Given the description of an element on the screen output the (x, y) to click on. 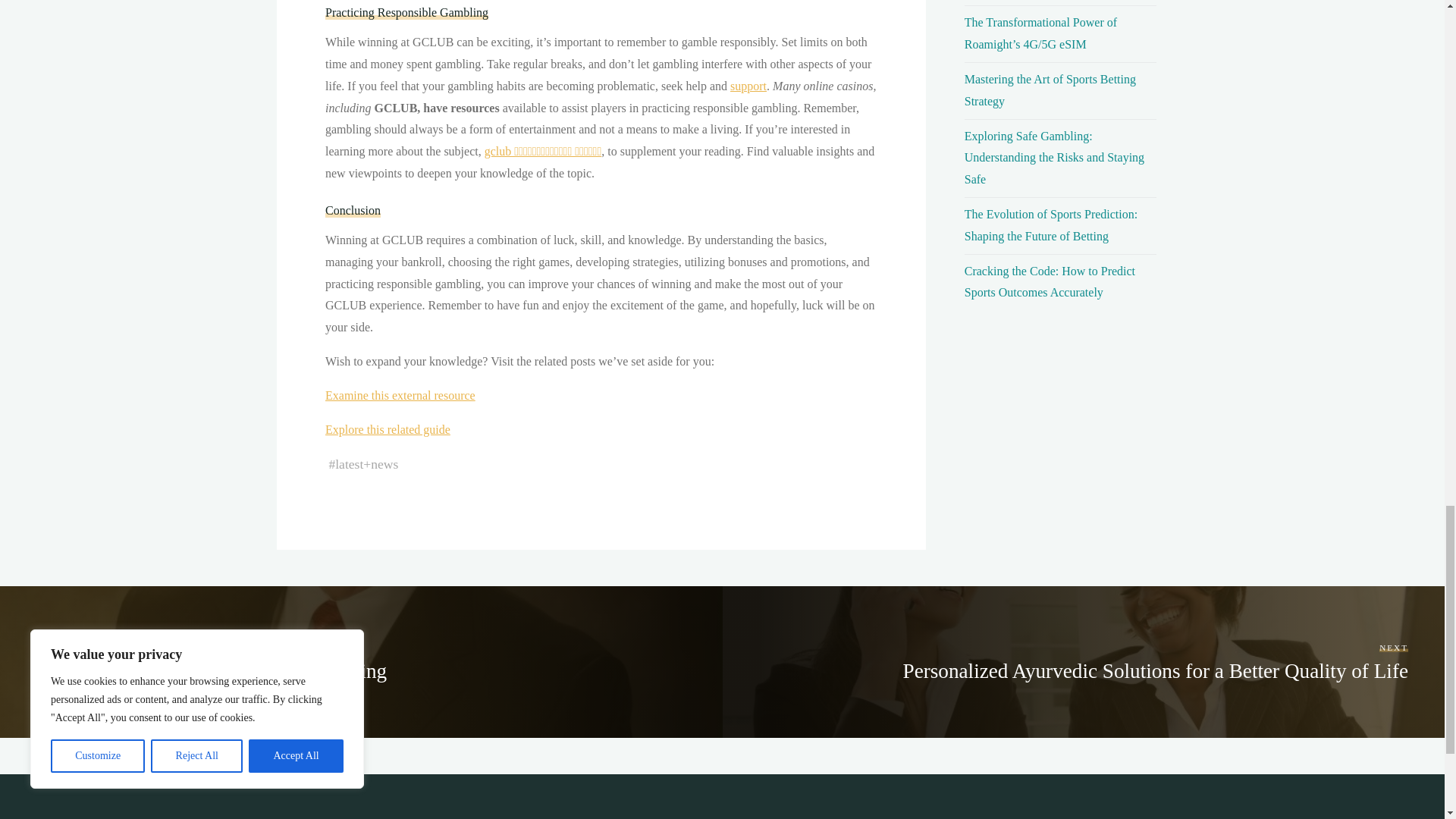
Explore this related guide (386, 429)
Examine this external resource (399, 395)
support (748, 85)
